Given the description of an element on the screen output the (x, y) to click on. 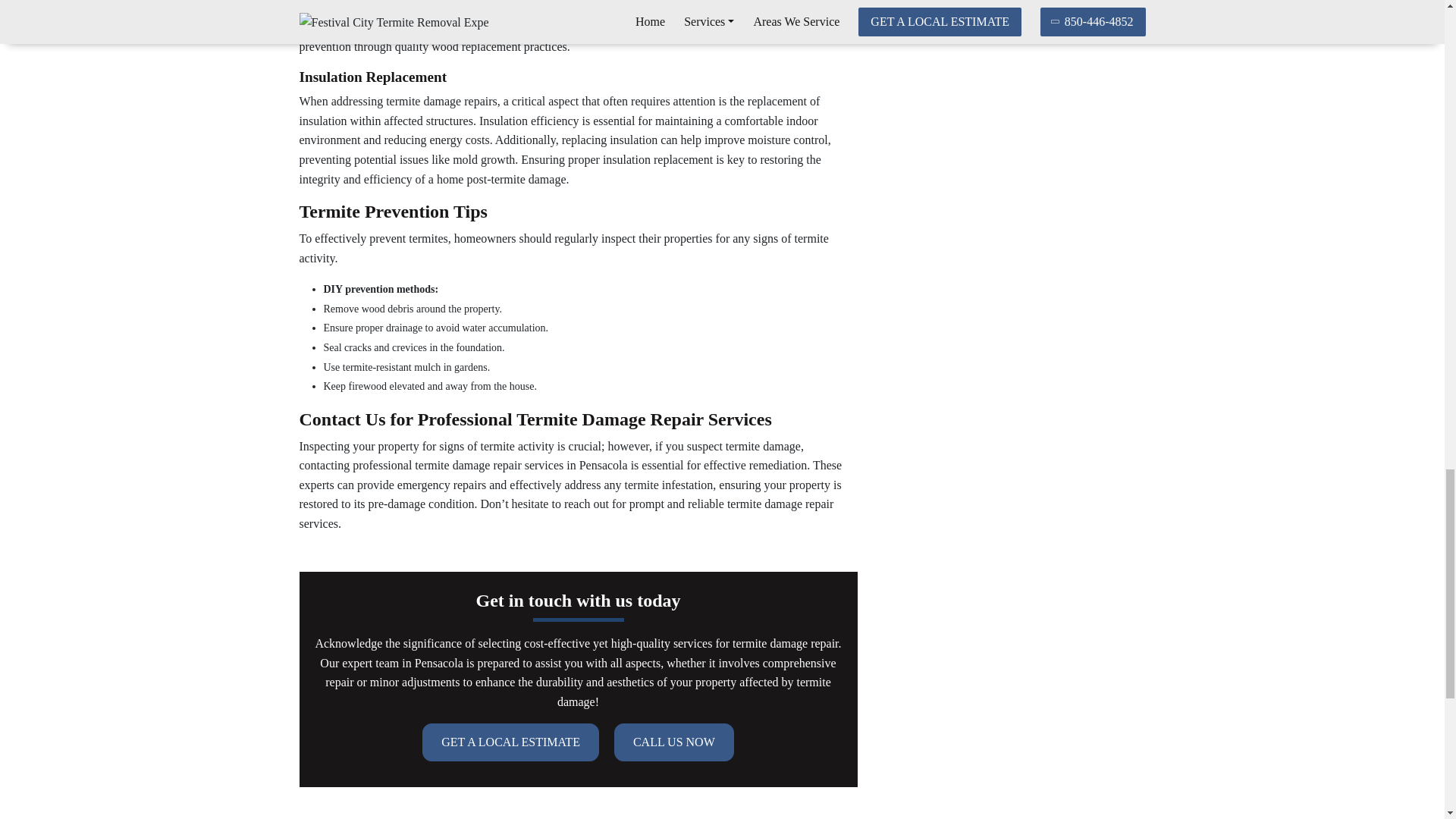
GET A LOCAL ESTIMATE (510, 742)
CALL US NOW (673, 742)
